Given the description of an element on the screen output the (x, y) to click on. 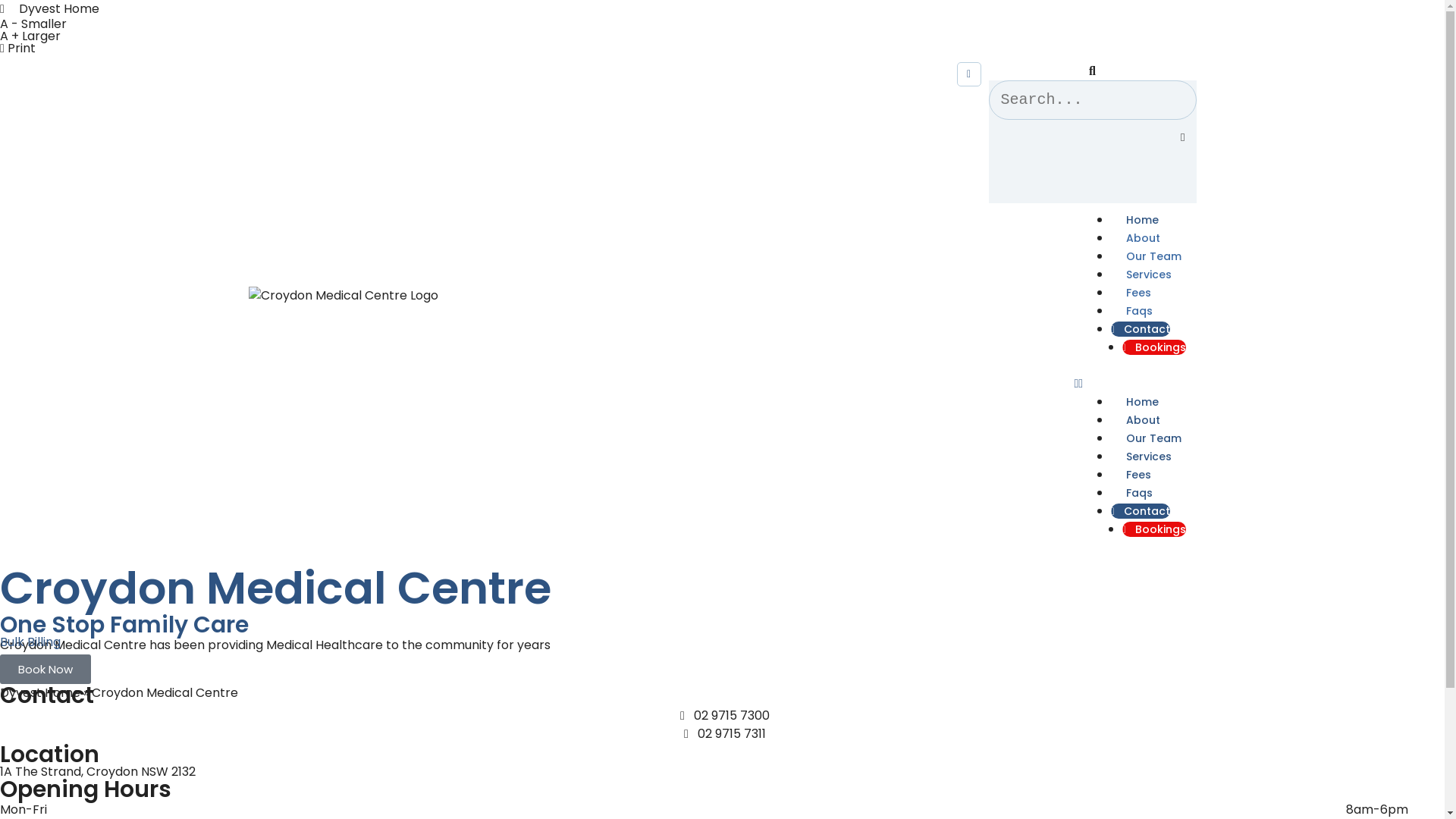
Home Element type: text (1141, 222)
Faqs Element type: text (1138, 495)
Fees Element type: text (1137, 476)
02 9715 7300 Element type: text (722, 715)
Book Now Element type: text (45, 669)
Fees Element type: text (1137, 294)
Contact Element type: text (1139, 328)
Our Team Element type: text (1152, 440)
Contact Element type: text (1139, 510)
About Element type: text (1142, 422)
Dyvest Home Element type: text (722, 9)
Services Element type: text (1147, 458)
Services Element type: text (1147, 276)
Bookings Element type: text (1154, 528)
Bookings Element type: text (1154, 346)
About Element type: text (1142, 240)
Our Team Element type: text (1152, 258)
Home Element type: text (1141, 404)
Faqs Element type: text (1138, 313)
Dyvest Home Element type: text (40, 692)
Print Element type: text (17, 47)
